Given the description of an element on the screen output the (x, y) to click on. 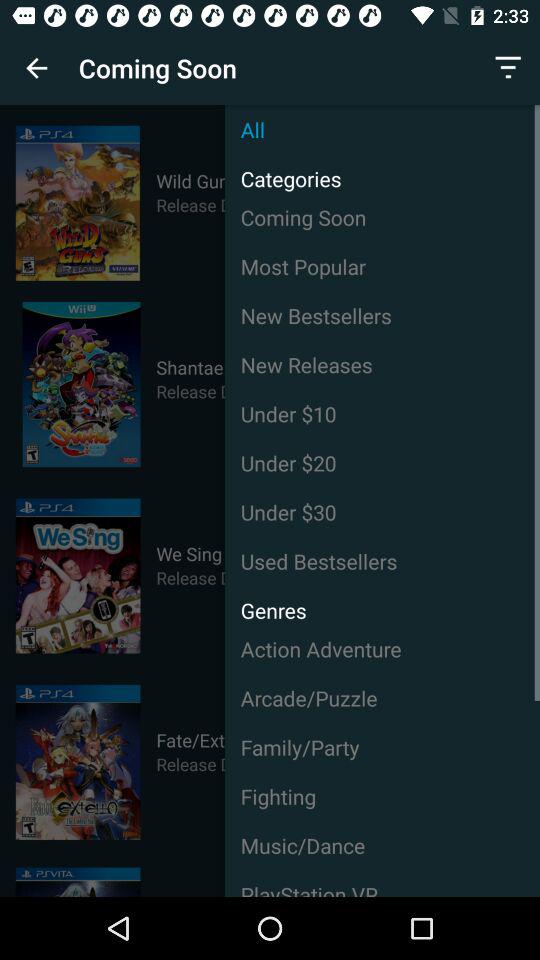
choose the icon below the coming soon (382, 266)
